Given the description of an element on the screen output the (x, y) to click on. 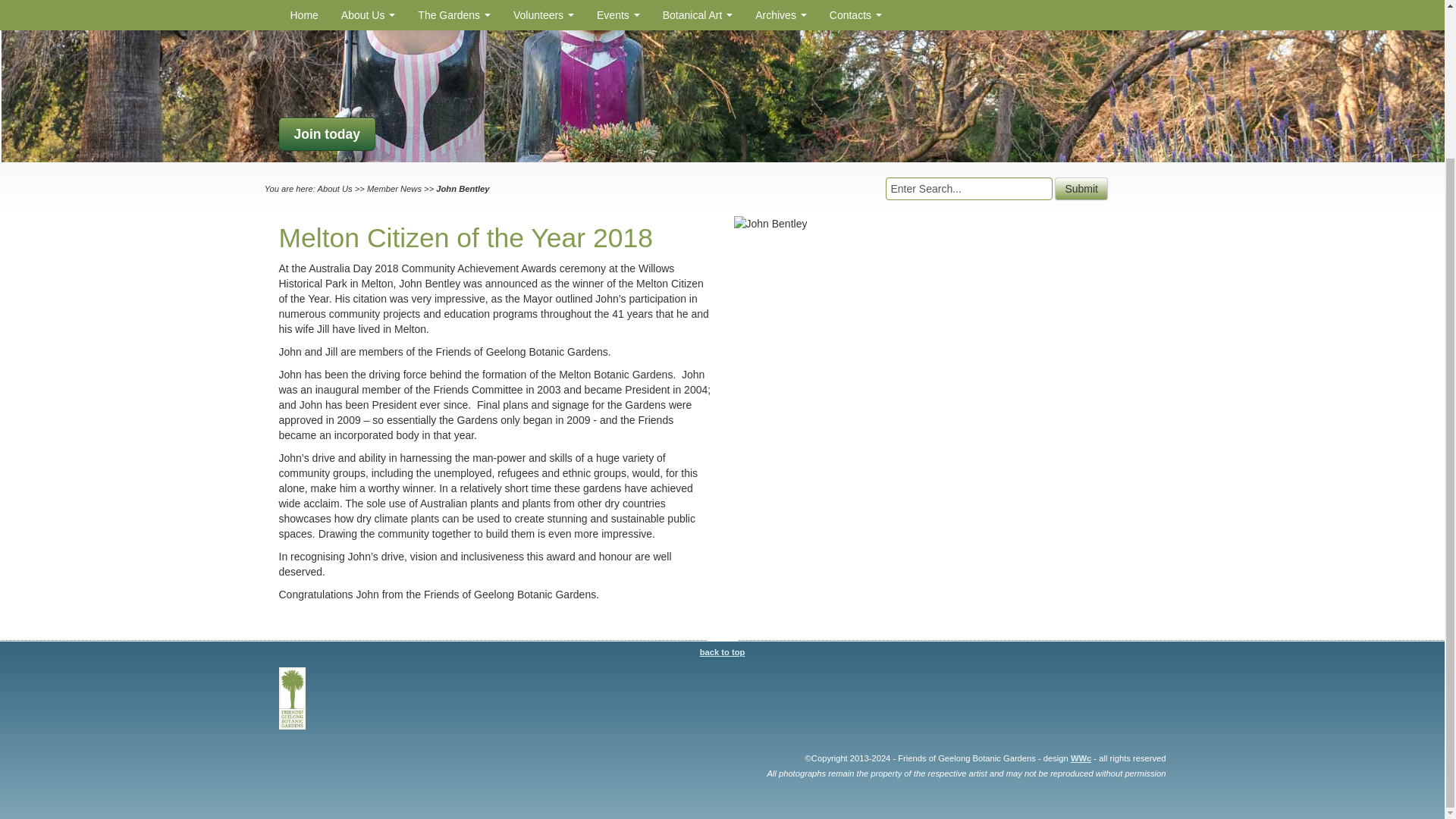
Enter Search... (968, 188)
back to top (722, 644)
Enter Search... (968, 188)
John Bentley (770, 223)
Friends of Geelong Botanic Gardens (292, 698)
Submit (1081, 188)
Are your WordsWorth communicating? (1080, 757)
back to top (722, 644)
